Given the description of an element on the screen output the (x, y) to click on. 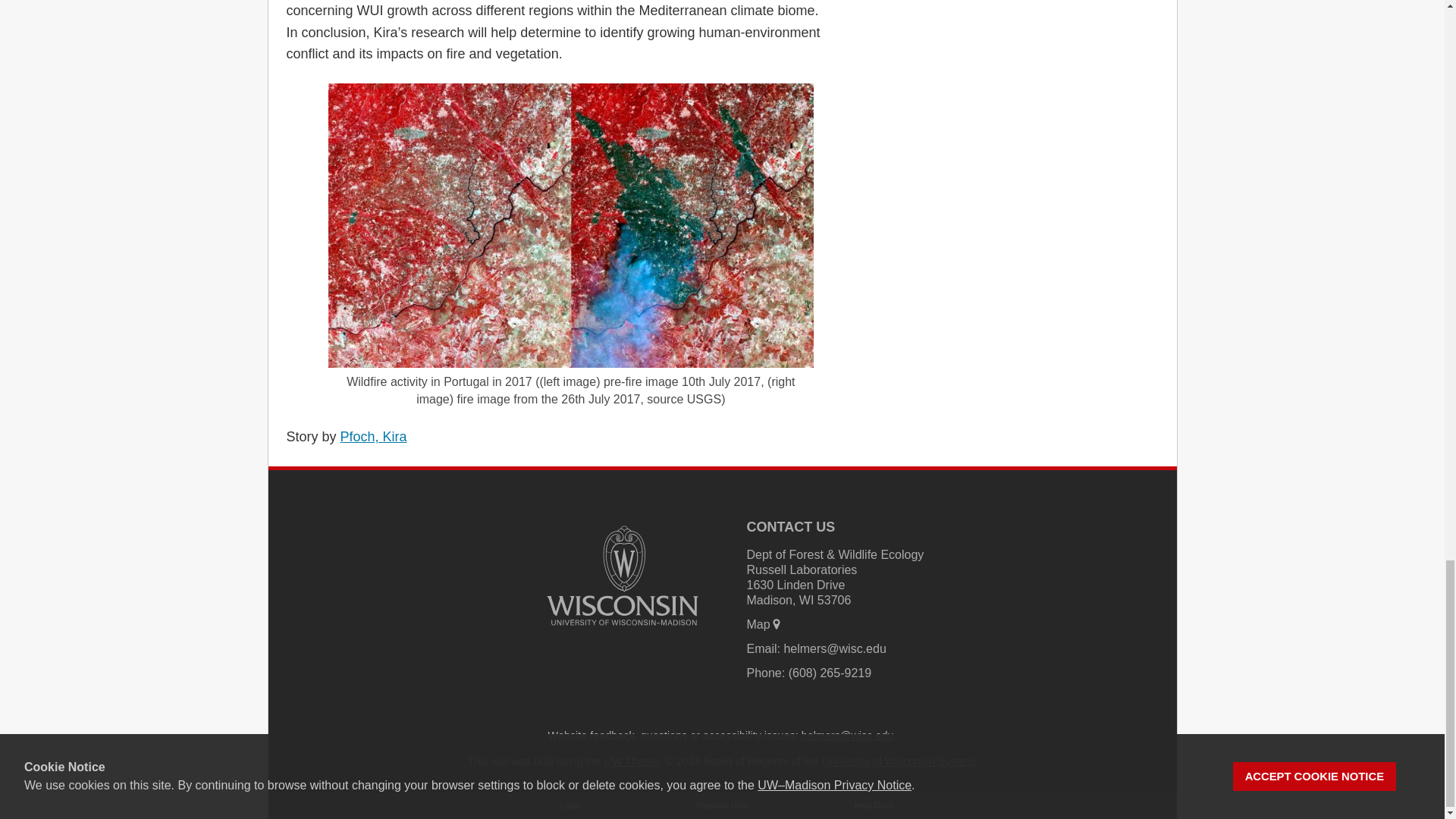
University logo that links to main university website (621, 575)
Pfoch, Kira (373, 436)
map marker (776, 623)
